Given the description of an element on the screen output the (x, y) to click on. 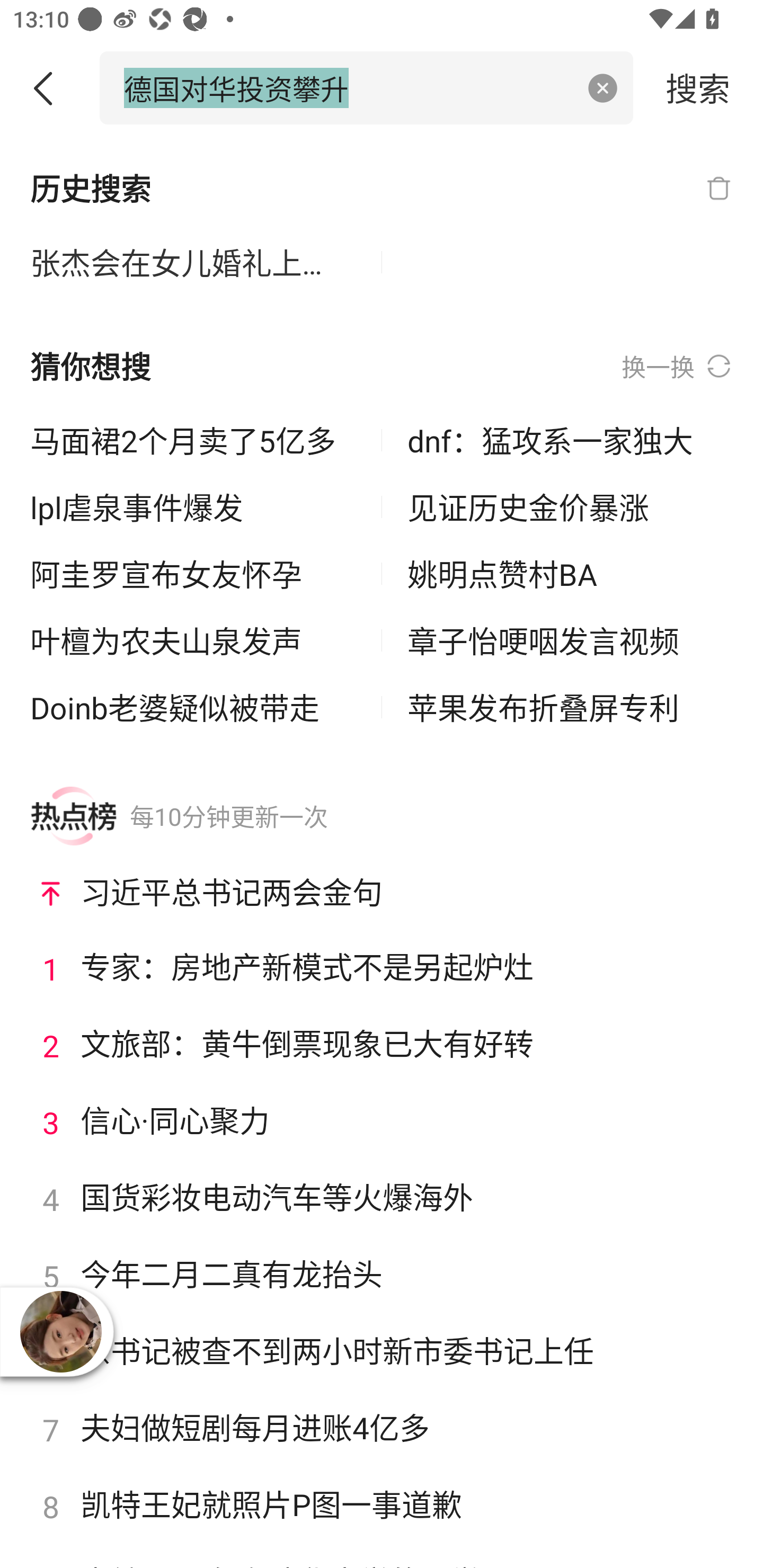
返回 (49, 87)
搜索 (698, 87)
德国对华投资攀升 (347, 87)
清空 (602, 88)
张杰会在女儿婚礼上唱三生三世 (193, 262)
换一换 (676, 366)
马面裙2个月卖了5亿多 (193, 439)
dnf：猛攻系一家独大 (569, 439)
lpl虐泉事件爆发 (193, 506)
见证历史金价暴涨 (569, 506)
阿圭罗宣布女友怀孕 (193, 573)
姚明点赞村BA (569, 573)
叶檀为农夫山泉发声 (193, 640)
章子怡哽咽发言视频 (569, 640)
Doinb老婆疑似被带走 (193, 707)
苹果发布折叠屏专利 (569, 707)
播放器 (60, 1331)
